Given the description of an element on the screen output the (x, y) to click on. 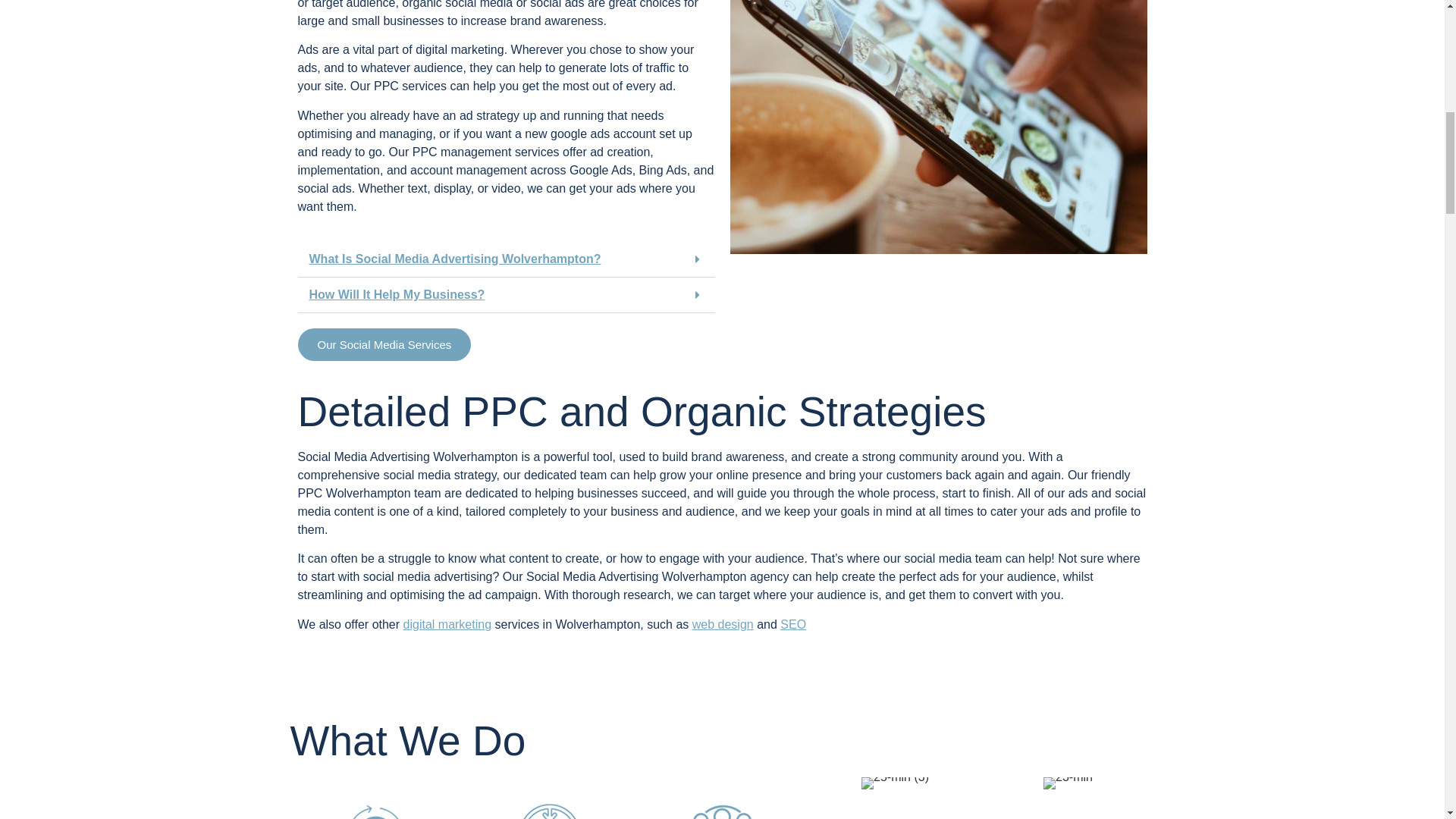
What Is Social Media Advertising Wolverhampton? (454, 258)
web design (723, 624)
digital marketing (447, 624)
Our Social Media Services (383, 344)
How Will It Help My Business? (396, 294)
SEO (793, 624)
